Given the description of an element on the screen output the (x, y) to click on. 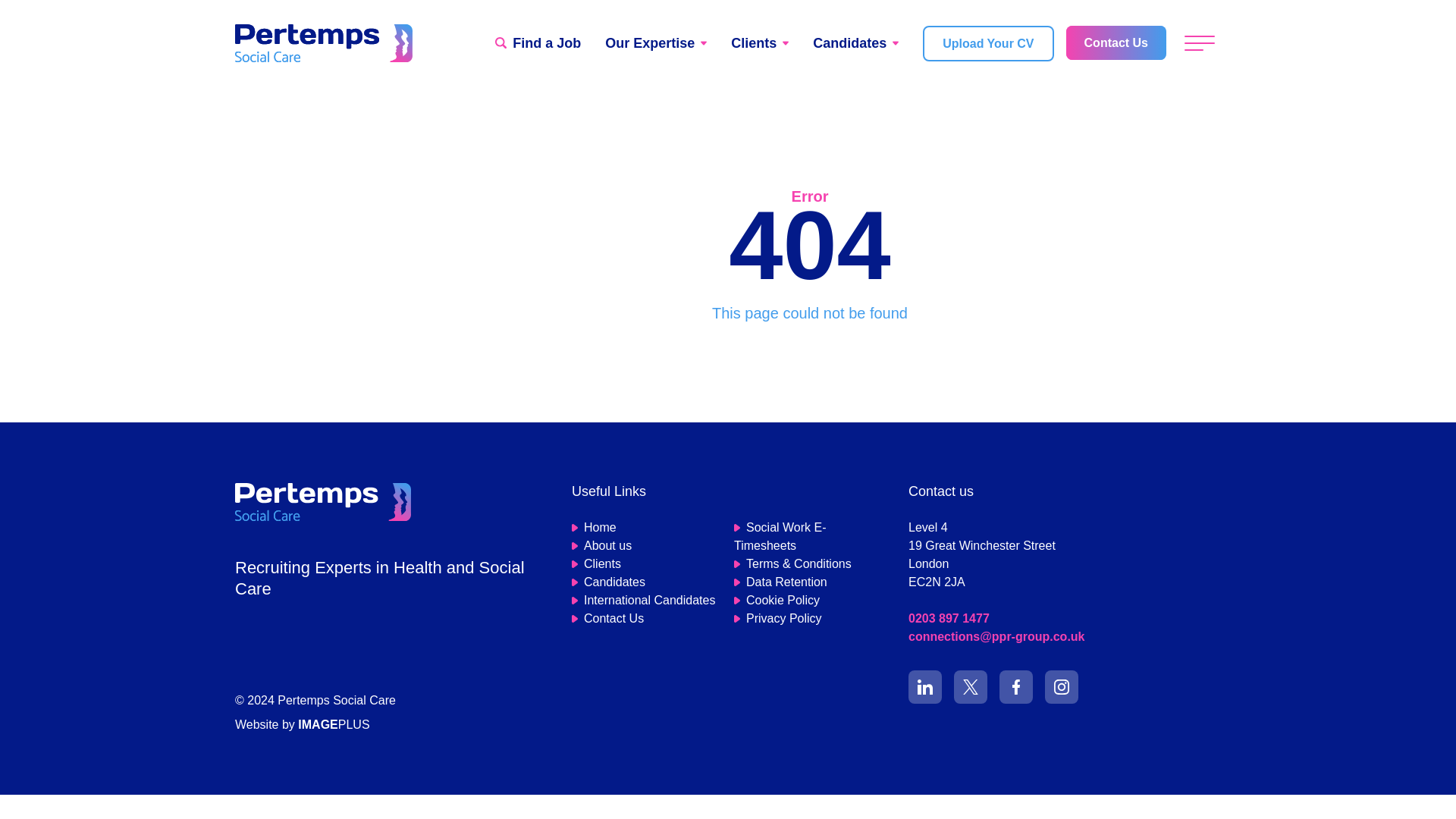
Go to Pertemps Social Care homepage (323, 43)
Go to Pertemps Social Care's  (1061, 686)
Go to Pertemps Social Care homepage (322, 500)
Go to Pertemps Social Care's  (970, 686)
Go to Image Plus' website (301, 724)
Contact Us (1115, 42)
Our Expertise (655, 42)
Go to Pertemps Social Care's  (1015, 686)
Clients (759, 42)
Go to Pertemps Social Care's  (925, 686)
Candidates (855, 42)
Menu (1199, 43)
Find a Job (537, 42)
Upload Your CV (987, 43)
